Given the description of an element on the screen output the (x, y) to click on. 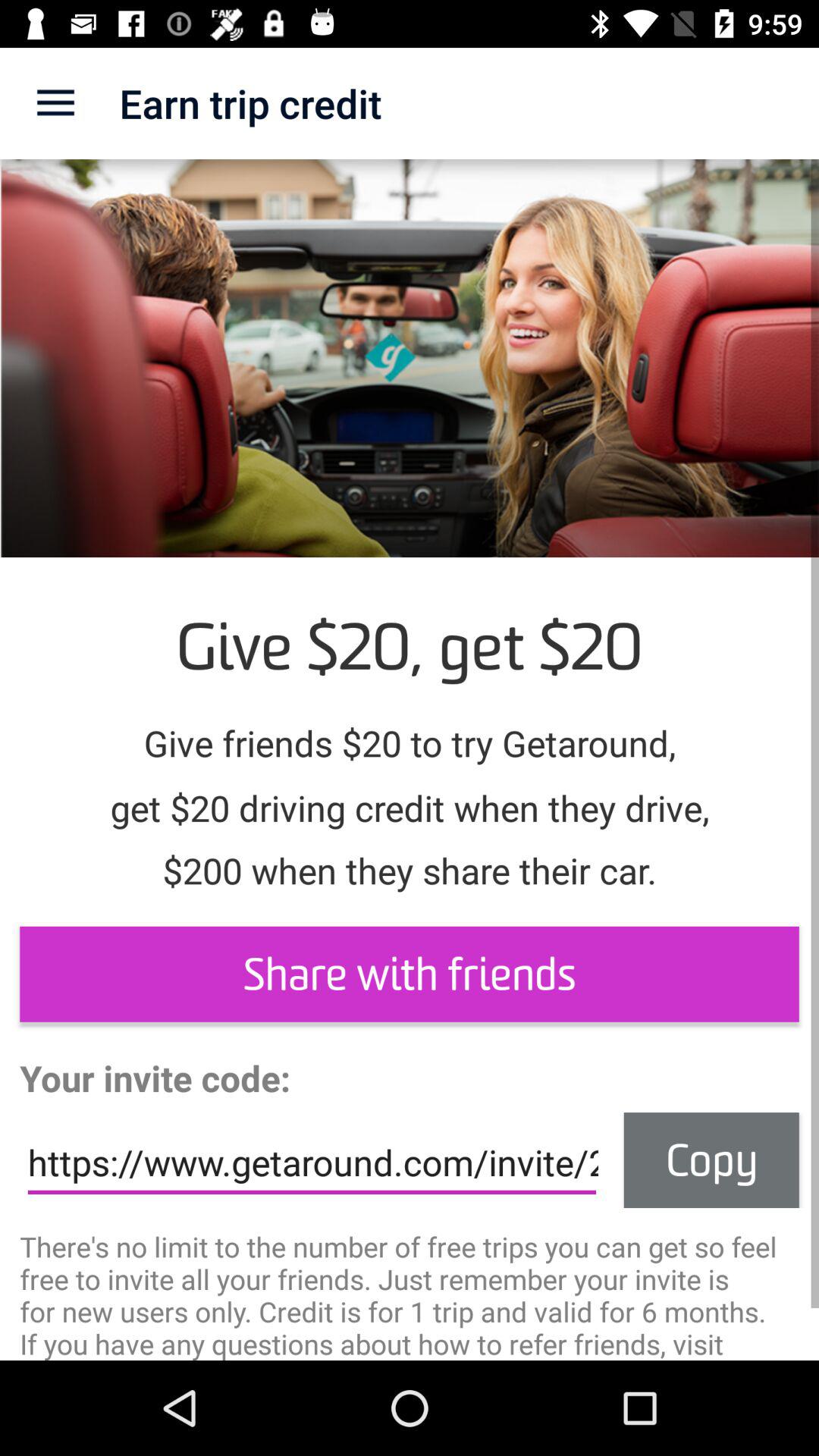
jump to copy (711, 1160)
